Given the description of an element on the screen output the (x, y) to click on. 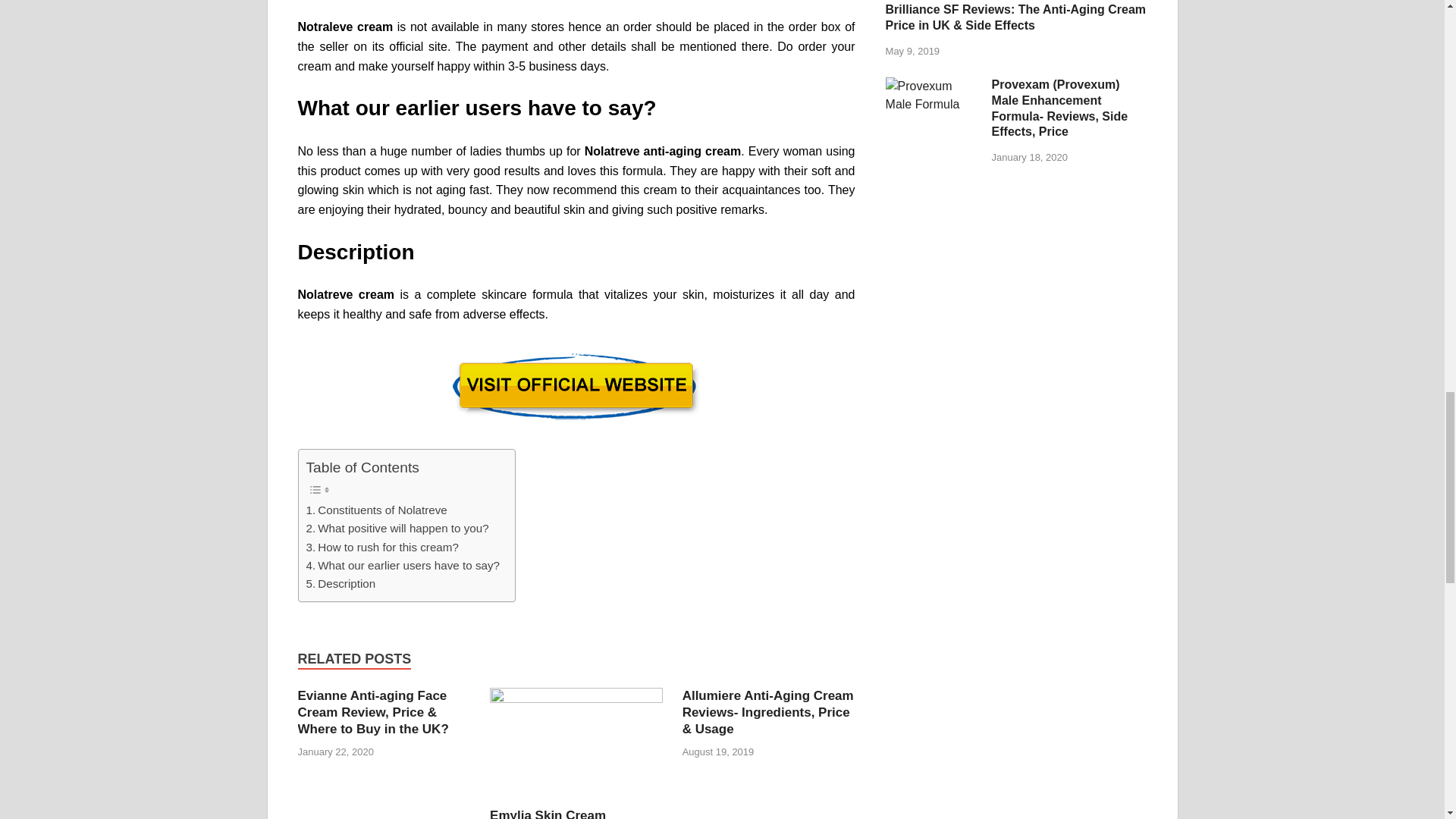
Constituents of Nolatreve (375, 510)
Constituents of Nolatreve (375, 510)
Description (340, 583)
What our earlier users have to say? (402, 565)
How to rush for this cream? (381, 547)
Description (340, 583)
What positive will happen to you? (397, 528)
What positive will happen to you? (397, 528)
How to rush for this cream? (381, 547)
What our earlier users have to say? (402, 565)
